Given the description of an element on the screen output the (x, y) to click on. 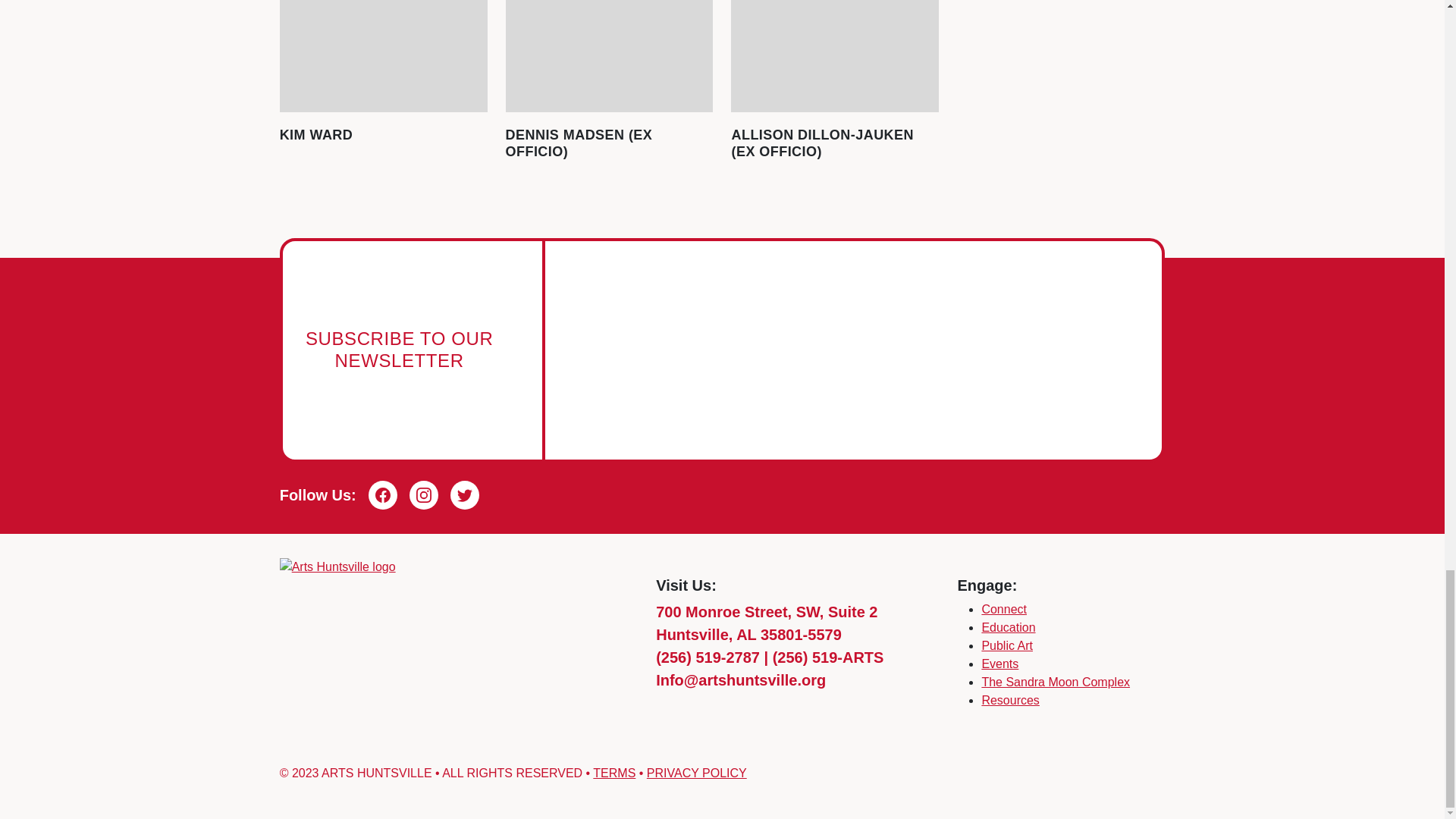
Twitter (464, 494)
Return home (337, 566)
Facebook (382, 494)
Instagram (423, 494)
